Given the description of an element on the screen output the (x, y) to click on. 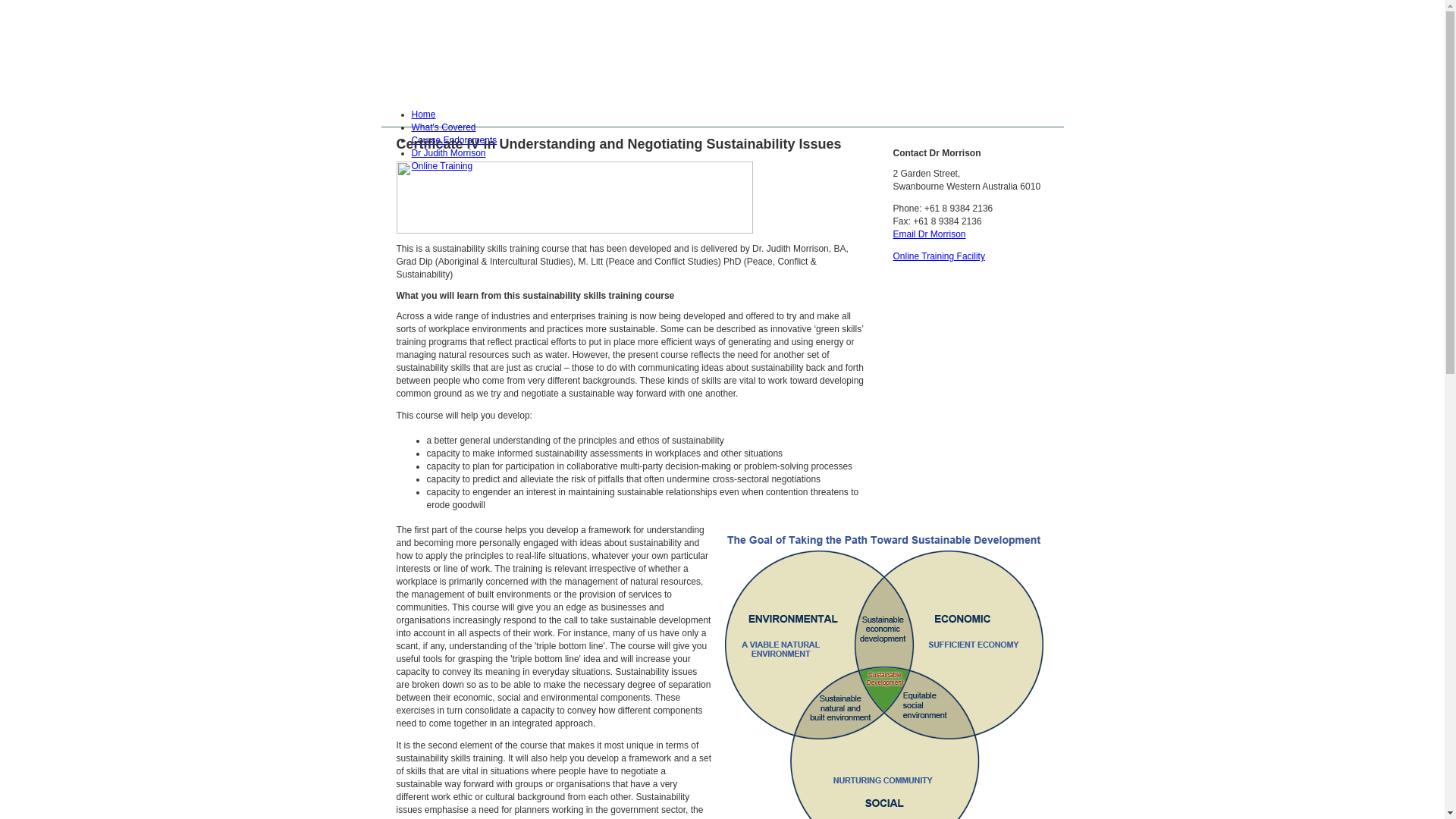
What's Covered Element type: text (443, 127)
Online Training Element type: text (441, 165)
Email Dr Morrison Element type: text (929, 234)
Dr Judith Morrison Element type: text (448, 152)
Course Endorsments Element type: text (453, 139)
Home Element type: text (423, 114)
Online Training Facility Element type: text (939, 256)
